Given the description of an element on the screen output the (x, y) to click on. 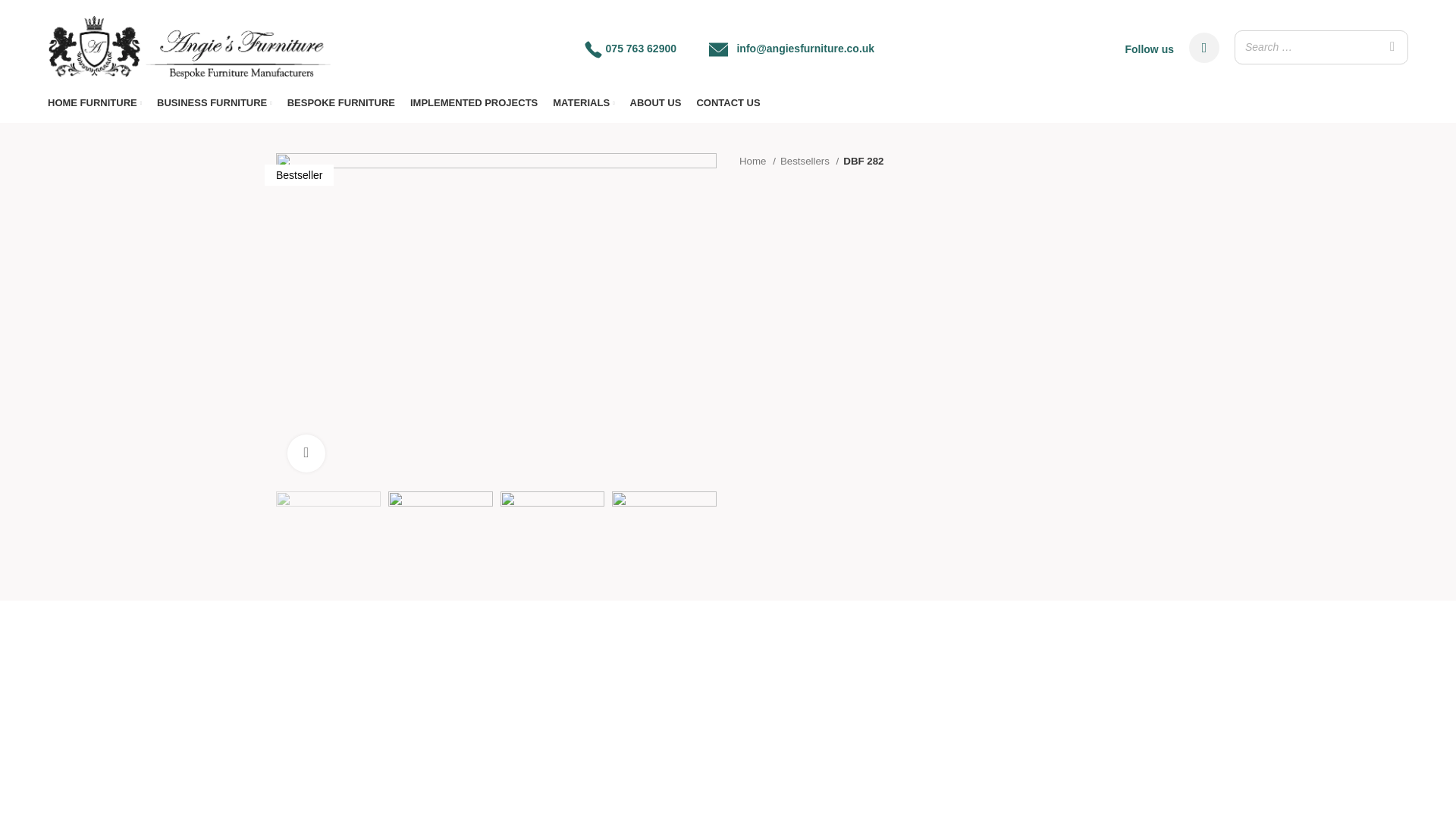
MATERIALS (583, 102)
BESPOKE FURNITURE (340, 102)
075 763 62900 (641, 48)
ABOUT US (654, 102)
IMPLEMENTED PROJECTS (473, 102)
HOME FURNITURE (94, 102)
BUSINESS FURNITURE (214, 102)
CONTACT US (727, 102)
